Given the description of an element on the screen output the (x, y) to click on. 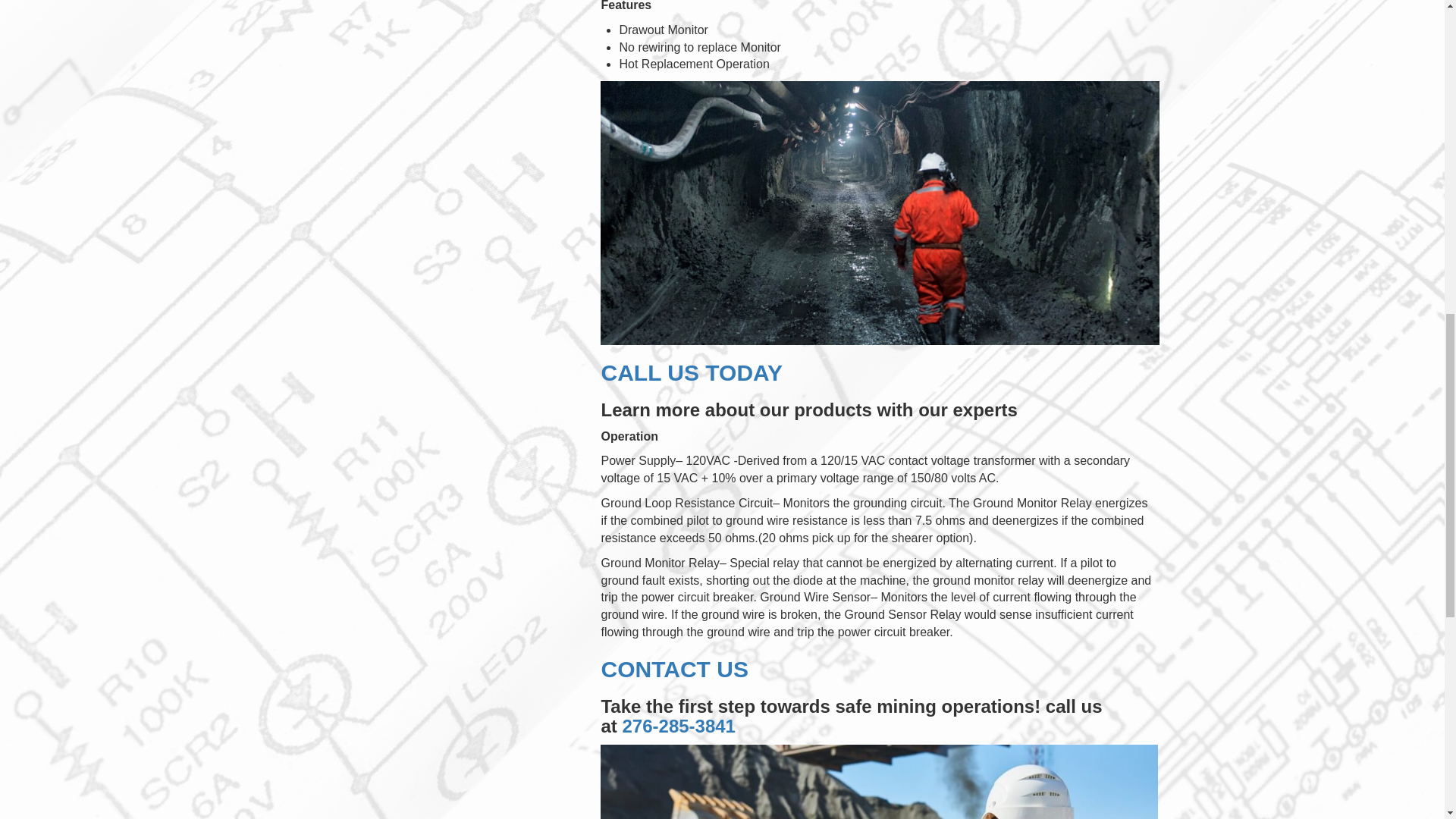
CONTACT US (673, 668)
276-285-3841 (678, 725)
CALL US TODAY (691, 372)
